Given the description of an element on the screen output the (x, y) to click on. 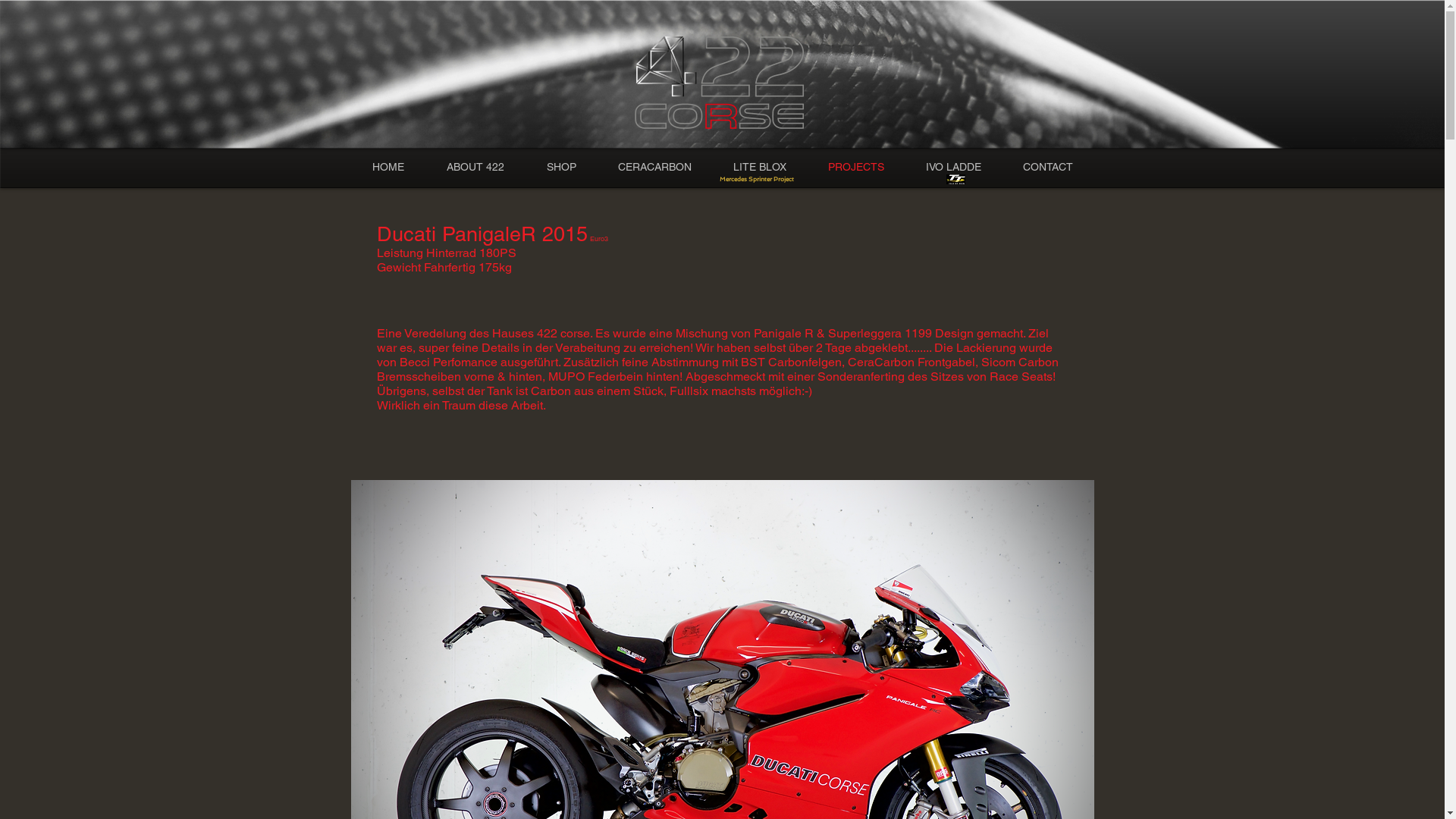
IVO LADDE Element type: text (953, 166)
HOME Element type: text (387, 166)
Ivo LaddeTT Element type: hover (955, 179)
422Corse_silver_outline.png Element type: hover (721, 82)
CONTACT Element type: text (1048, 166)
SHOP Element type: text (560, 166)
CERACARBON Element type: text (654, 166)
ABOUT 422 Element type: text (474, 166)
PROJECTS Element type: text (855, 166)
LITE BLOX Element type: text (759, 166)
